Given the description of an element on the screen output the (x, y) to click on. 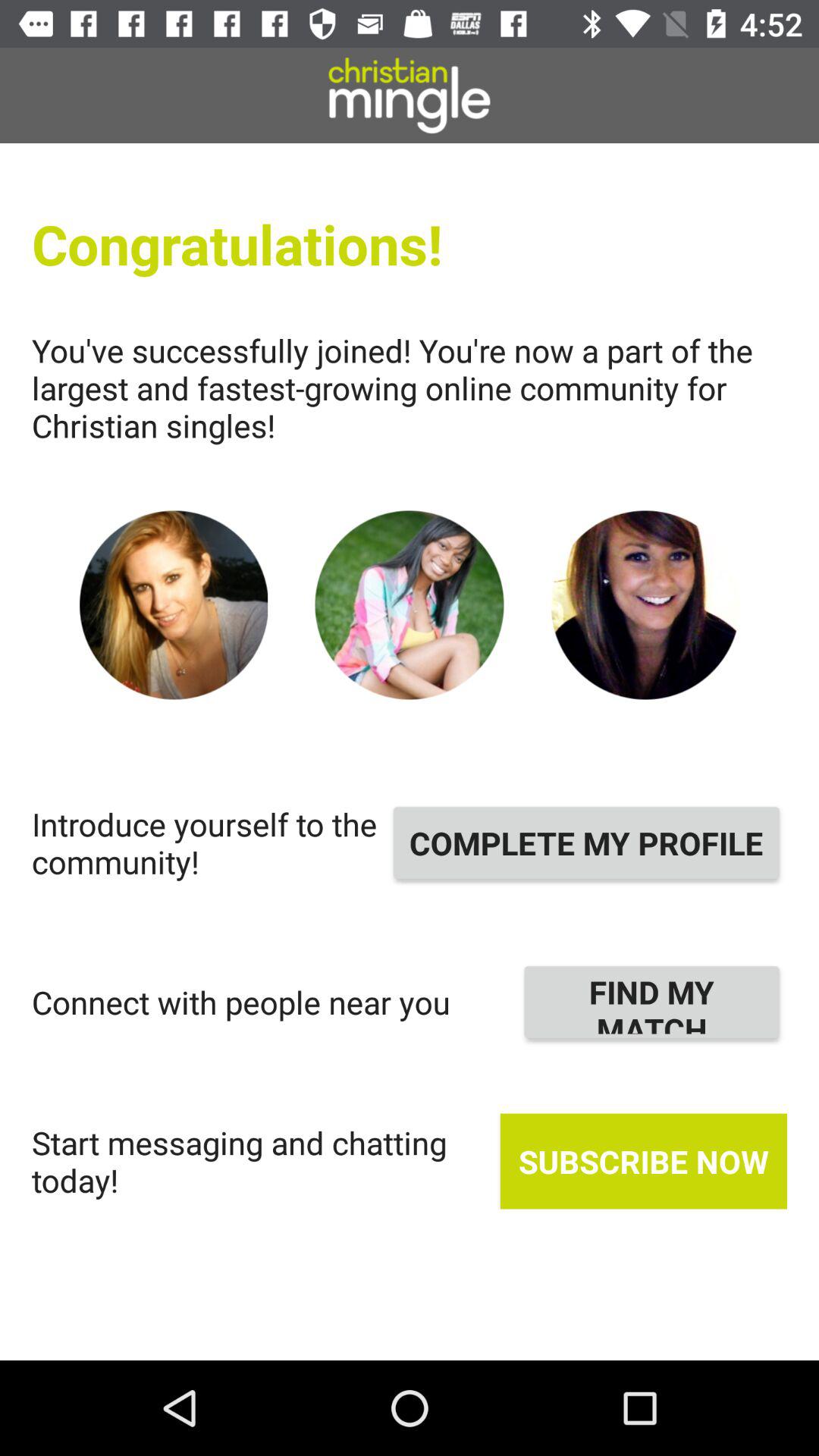
press the item next to connect with people (651, 1001)
